Given the description of an element on the screen output the (x, y) to click on. 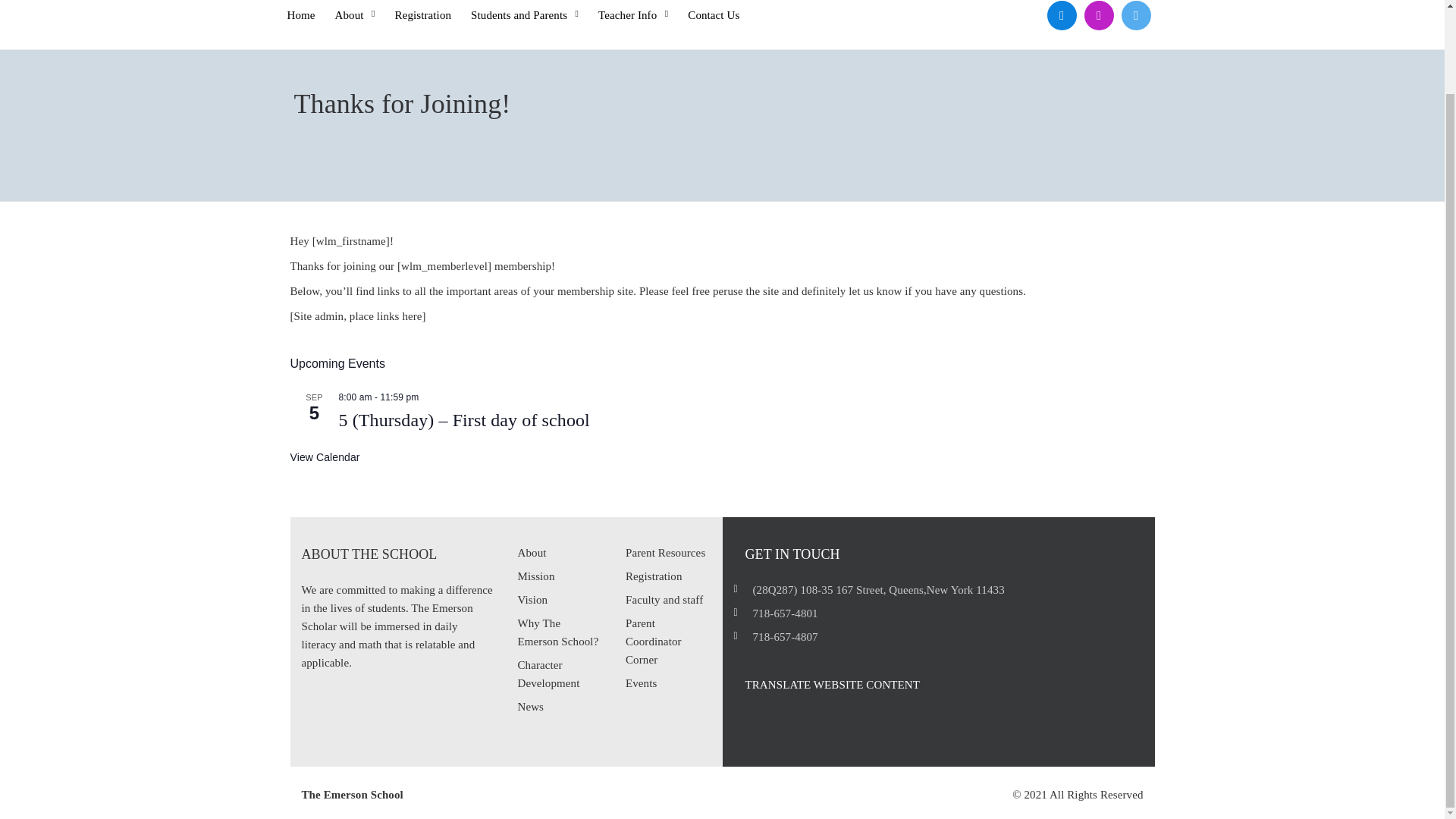
Home page (300, 12)
Parent Resources (665, 552)
Mission (535, 576)
About (531, 552)
Character Development (547, 674)
Home (300, 12)
About Emerson (354, 12)
About (354, 12)
Faculty and staff (664, 599)
Registration (422, 12)
